Given the description of an element on the screen output the (x, y) to click on. 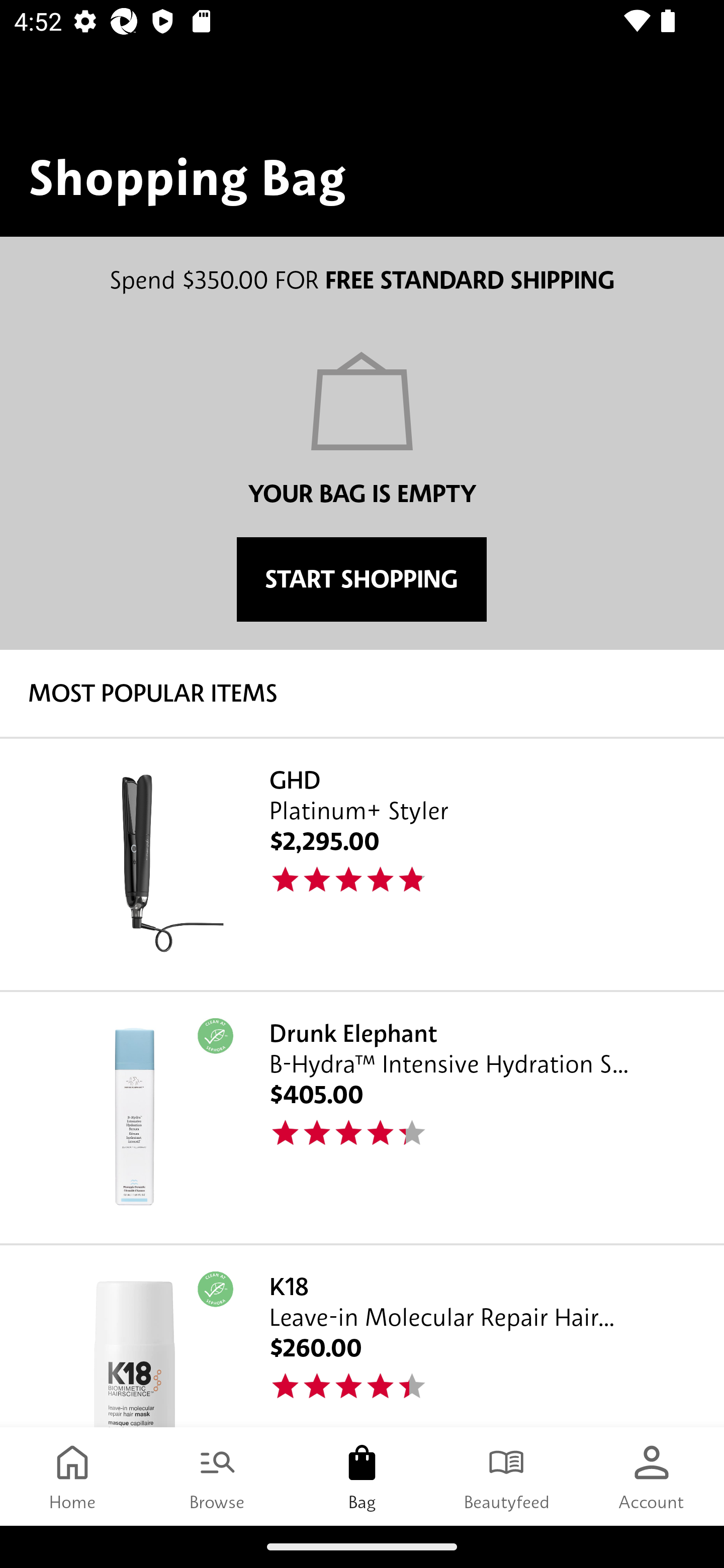
START SHOPPING (361, 578)
GHD Platinum+ Styler $2,295.00 48.0 (362, 862)
Home (72, 1475)
Browse (216, 1475)
Beautyfeed (506, 1475)
Account (651, 1475)
